Given the description of an element on the screen output the (x, y) to click on. 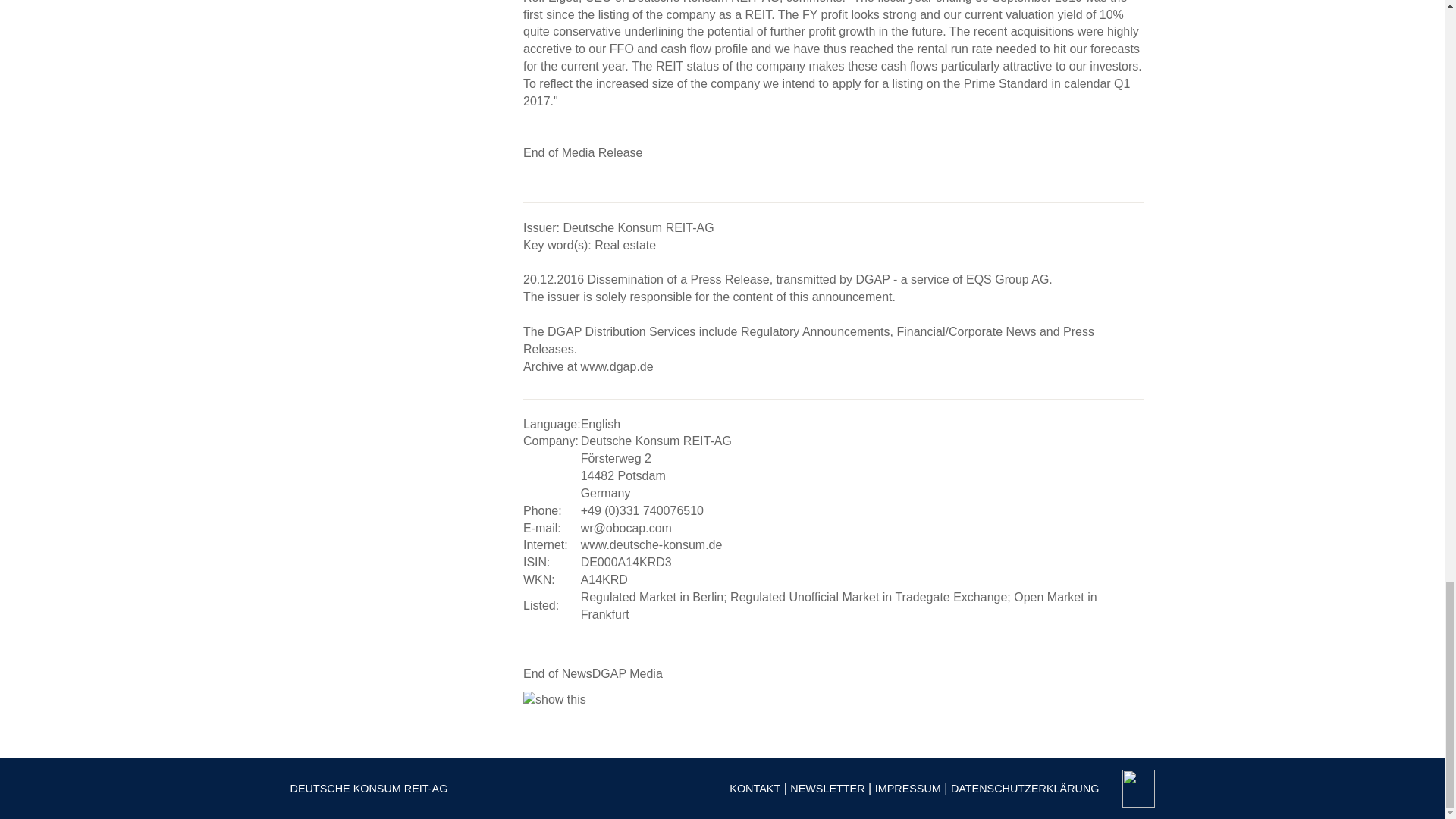
Impressum (907, 788)
Newsletter (827, 788)
Kontakt (754, 788)
NEWSLETTER (827, 788)
DEUTSCHE KONSUM REIT-AG (367, 788)
IMPRESSUM (907, 788)
KONTAKT (754, 788)
